Given the description of an element on the screen output the (x, y) to click on. 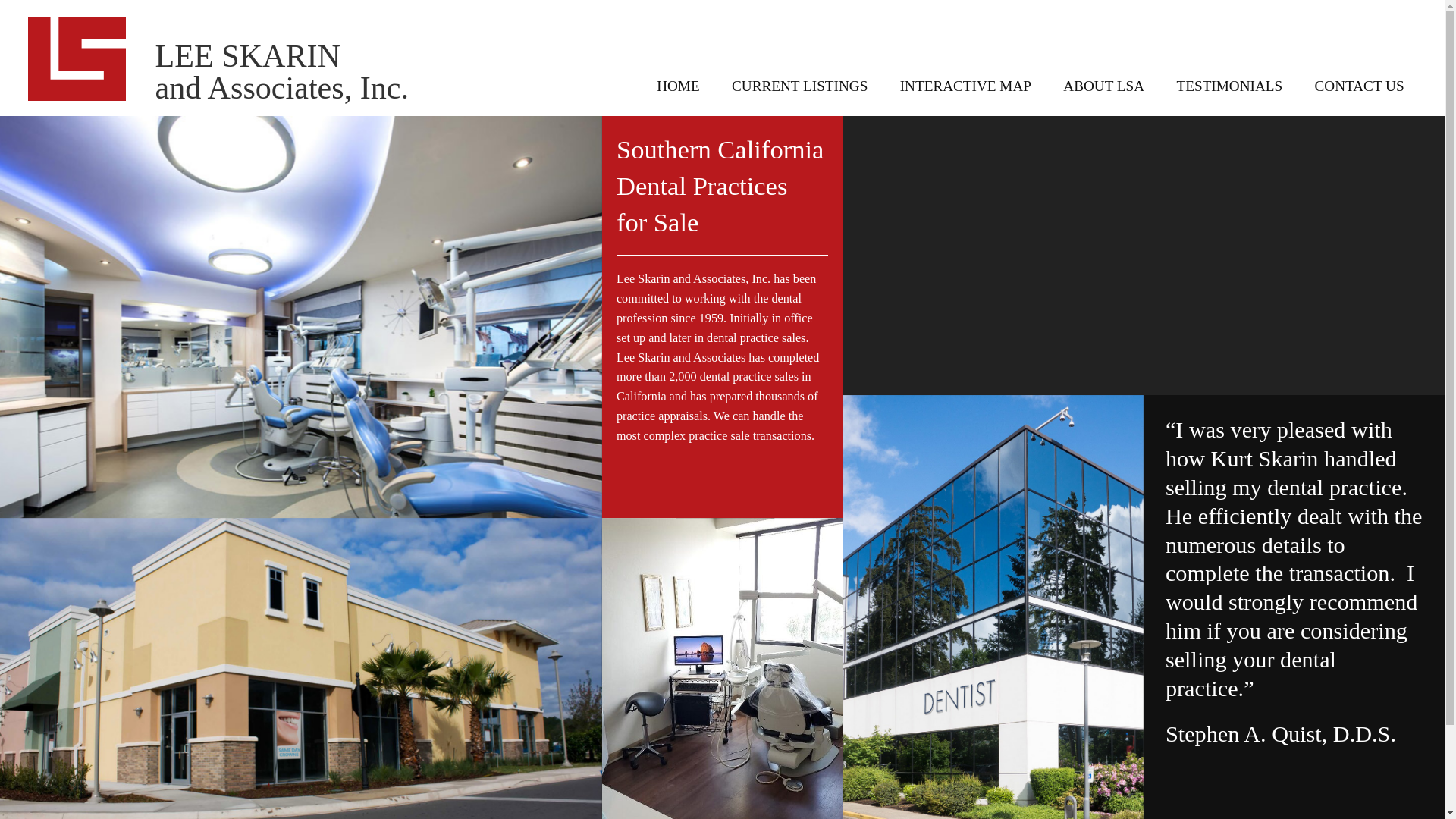
CONTACT US (1359, 85)
HOME (678, 85)
CURRENT LISTINGS (799, 85)
INTERACTIVE MAP (964, 85)
ABOUT LSA (1103, 85)
TESTIMONIALS (1229, 85)
